Given the description of an element on the screen output the (x, y) to click on. 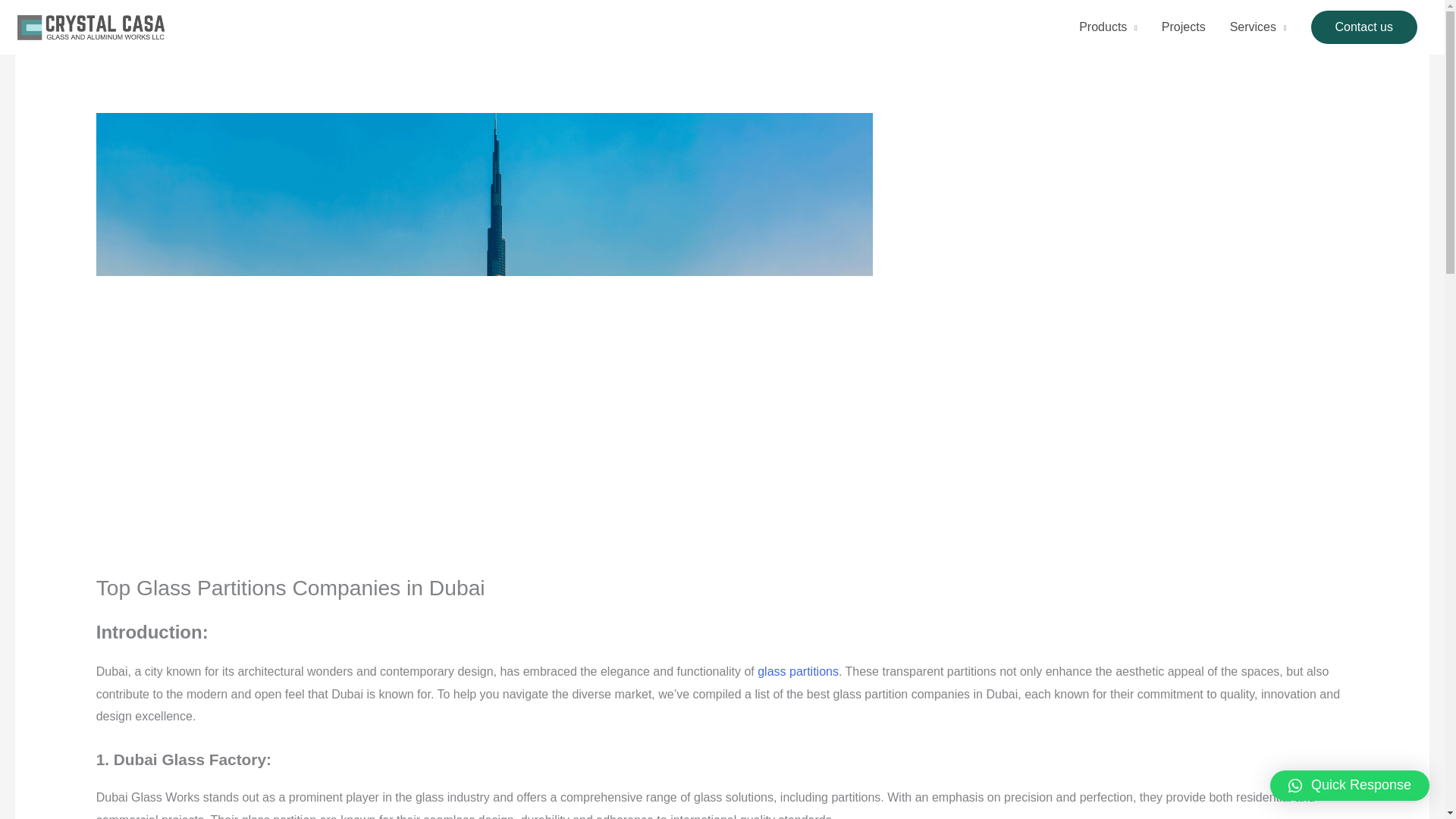
Products (1108, 27)
Services (1257, 27)
Projects (1183, 27)
